Given the description of an element on the screen output the (x, y) to click on. 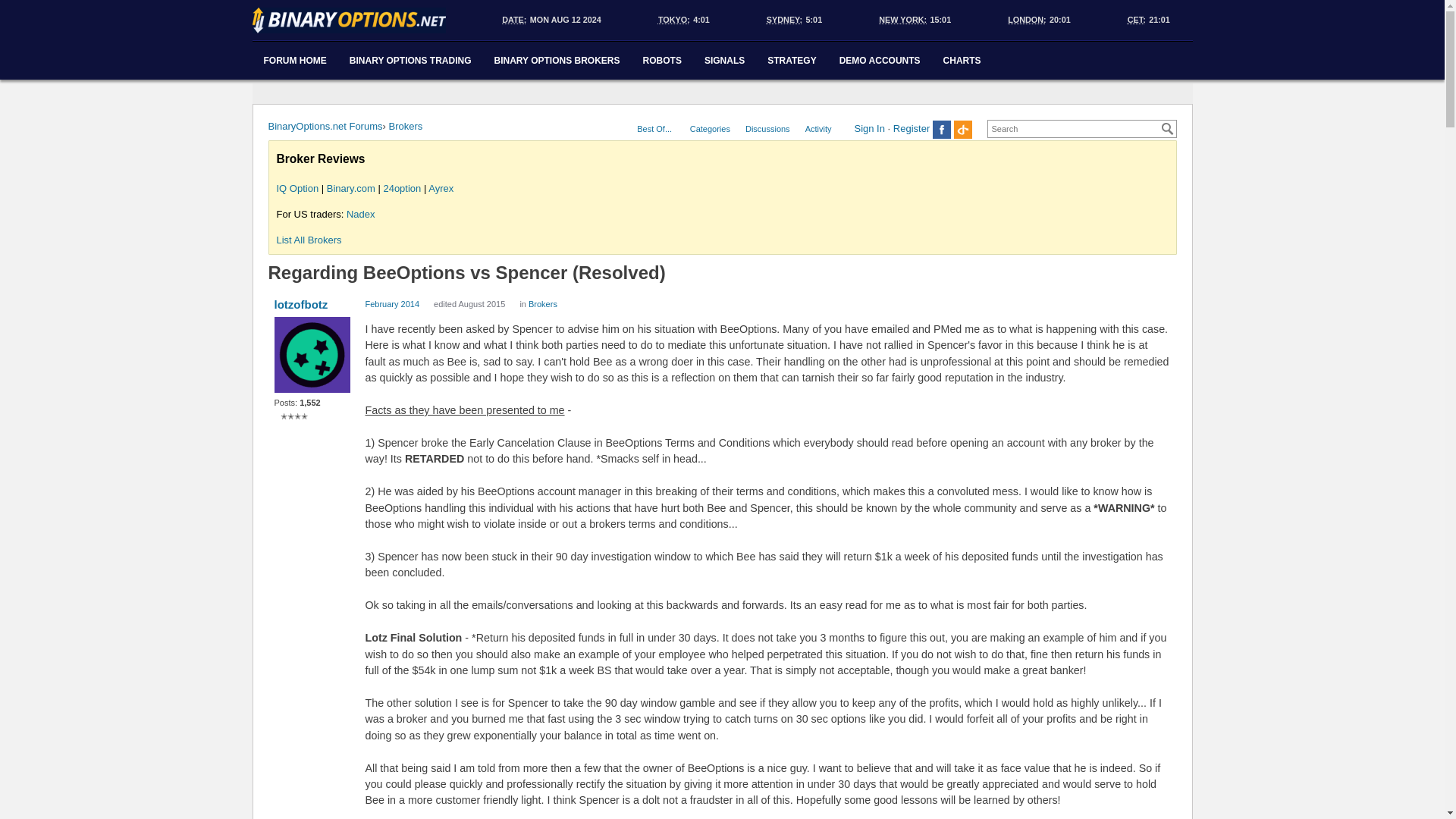
DEMO ACCOUNTS (879, 60)
Binary Options Strategy (791, 60)
BINARY OPTIONS TRADING (410, 60)
lotzofbotz (312, 304)
Tokyo (675, 19)
List All Brokers (308, 239)
Sign In with Facebook (941, 129)
Mon Aug 12 2024 (565, 19)
February 2014 (392, 303)
FORUM HOME (294, 60)
